Given the description of an element on the screen output the (x, y) to click on. 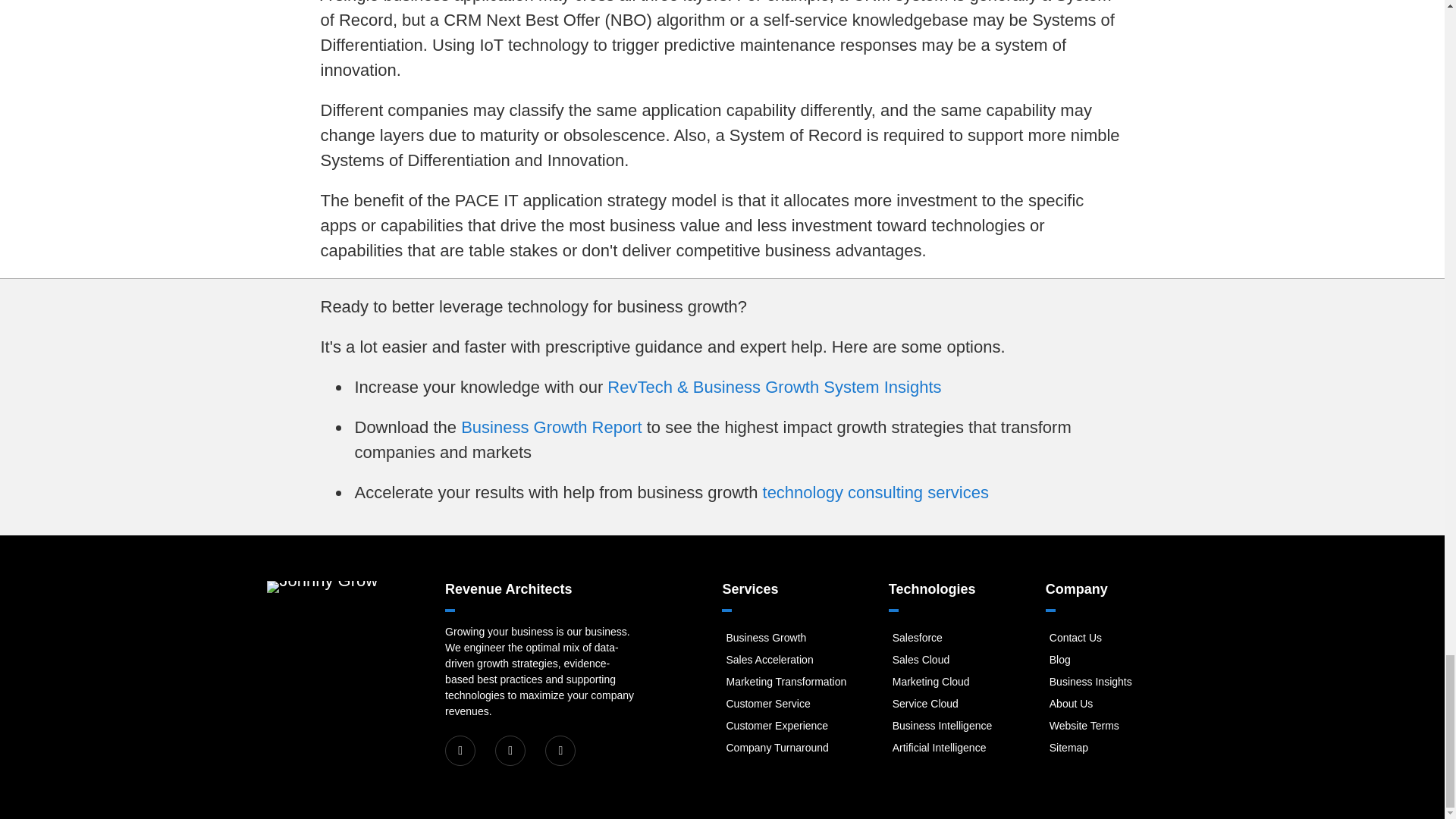
Marketing Consultant (785, 681)
Customer Experience Consultant (776, 725)
Salesforce Consultant (917, 637)
Business Growth Consultant (765, 637)
Customer Service Consultant (767, 703)
Sales Consultant (768, 659)
Johnny Grow (321, 586)
Company Turnaround Consultant (776, 747)
